Given the description of an element on the screen output the (x, y) to click on. 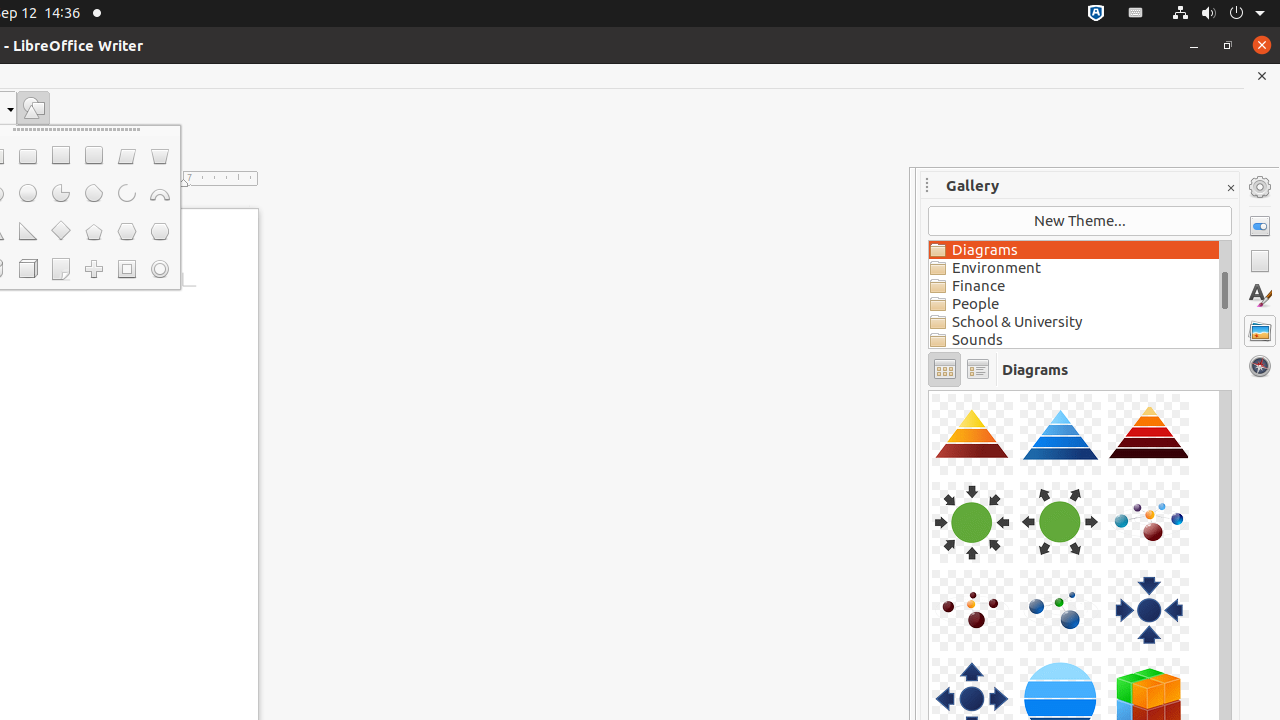
:1.21/StatusNotifierItem Element type: menu (1136, 13)
Right Triangle Element type: toggle-button (27, 231)
Component-Cuboid05-Red Element type: list-item (929, 390)
Arc Element type: toggle-button (126, 193)
New Theme Element type: push-button (1080, 221)
